Given the description of an element on the screen output the (x, y) to click on. 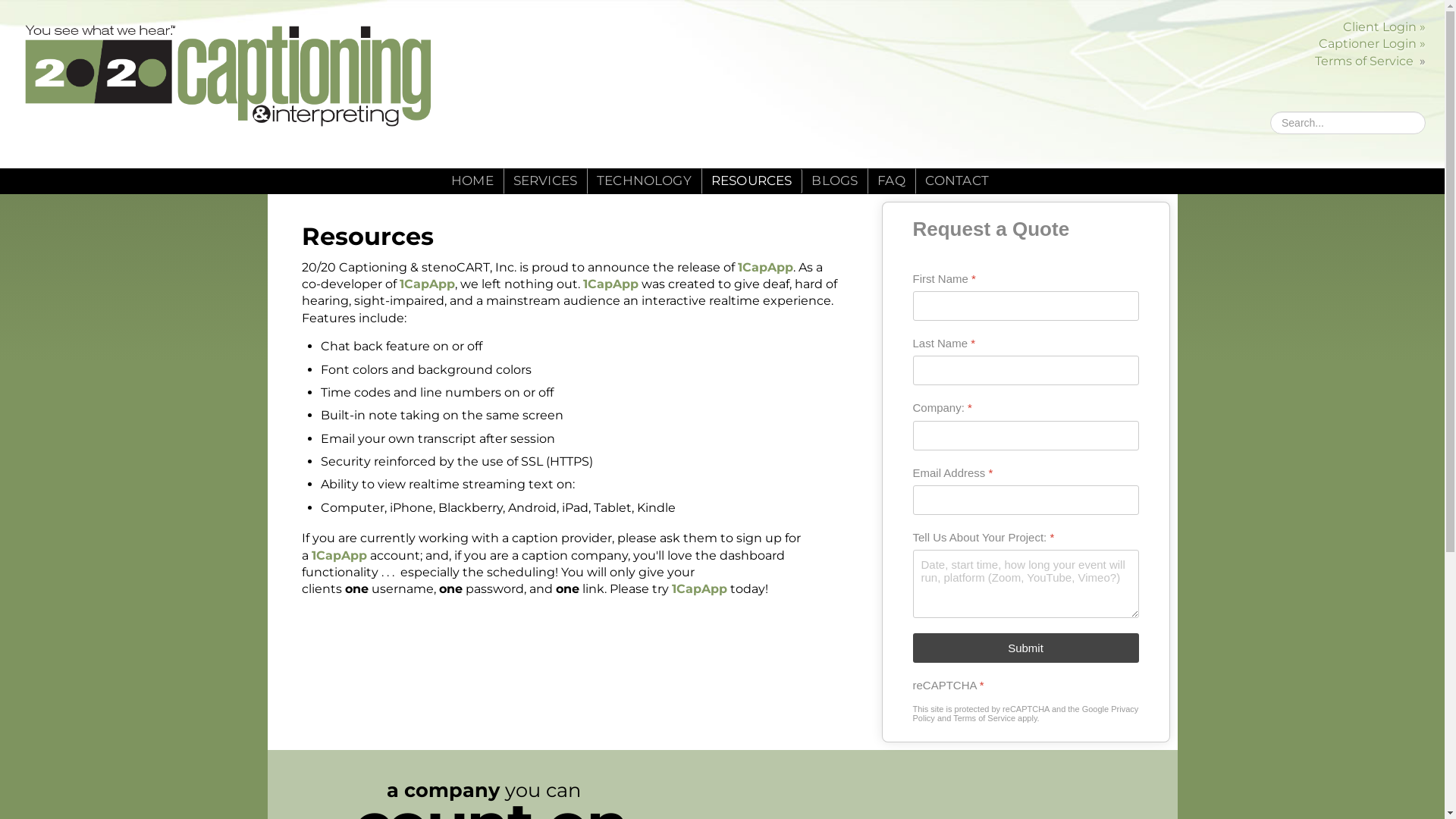
Submit Element type: text (1026, 647)
RESOURCES Element type: text (751, 181)
CONTACT Element type: text (956, 181)
1CapApp Element type: text (699, 588)
Terms of Service Element type: text (1363, 60)
FAQ Element type: text (891, 181)
1CapApp Element type: text (609, 283)
 1CapApp Element type: text (424, 283)
TECHNOLOGY Element type: text (644, 181)
SERVICES Element type: text (544, 181)
1CapApp Element type: text (338, 555)
BLOGS Element type: text (834, 181)
Privacy Policy Element type: text (1026, 713)
HOME Element type: text (472, 181)
Terms of Service Element type: text (984, 717)
1CapApp Element type: text (764, 267)
